Given the description of an element on the screen output the (x, y) to click on. 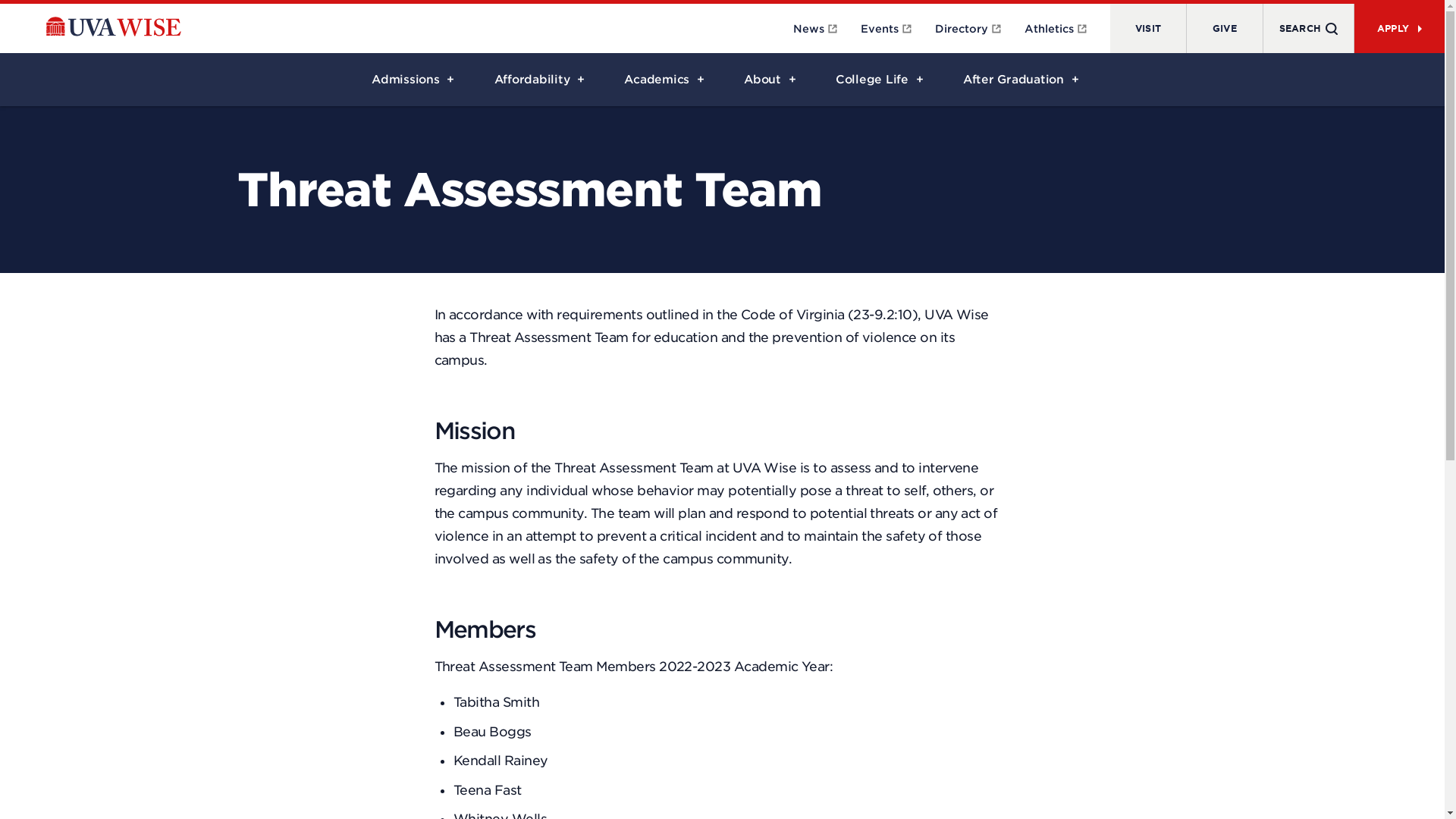
SEARCH (1308, 28)
Academics (660, 80)
Skip to main content (15, 6)
Admissions (410, 80)
Affordability (536, 80)
About (766, 80)
College Life (876, 80)
